Given the description of an element on the screen output the (x, y) to click on. 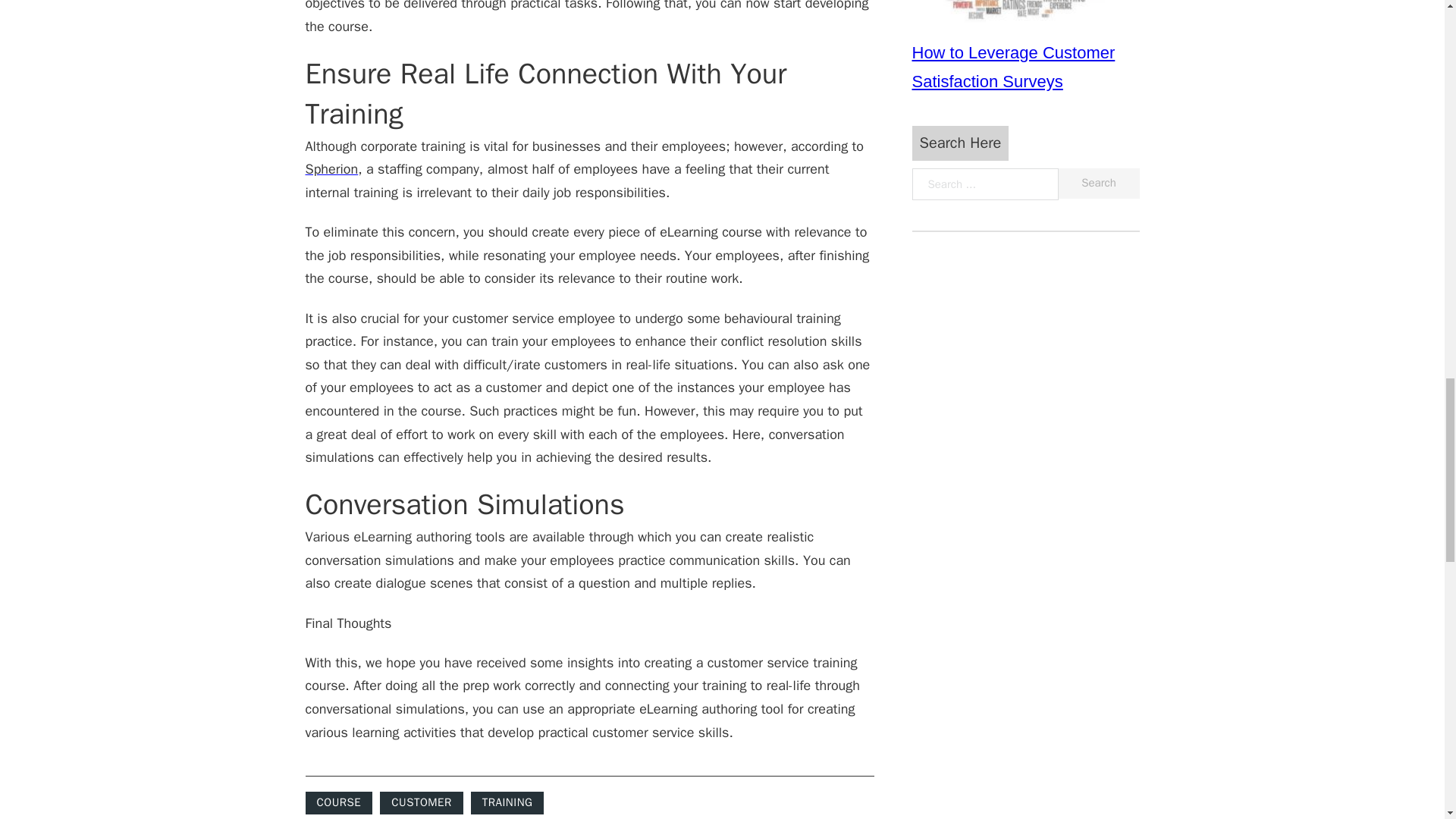
COURSE (338, 802)
TRAINING (507, 802)
CUSTOMER (421, 802)
Spherion (331, 168)
